Given the description of an element on the screen output the (x, y) to click on. 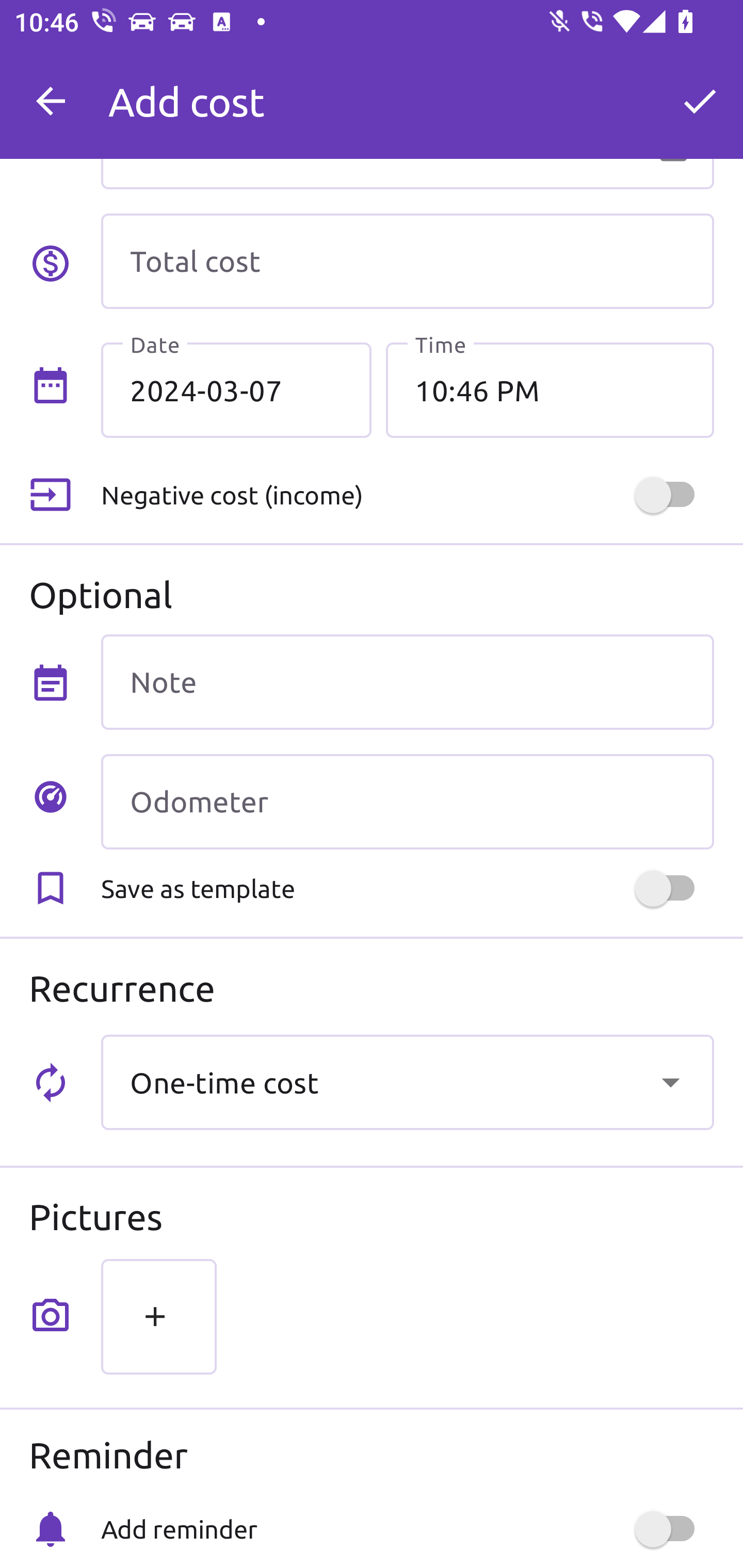
M My Car 0 km (407, 92)
M My Car 0 km (407, 92)
OK (699, 101)
Total cost  (407, 260)
2024-03-07 (236, 389)
10:46 PM (549, 389)
Negative cost (income) (407, 494)
Note (407, 682)
Odometer (407, 801)
Save as template (407, 887)
One-time cost (407, 1082)
Show dropdown menu (670, 1081)
Add reminder (407, 1529)
